Given the description of an element on the screen output the (x, y) to click on. 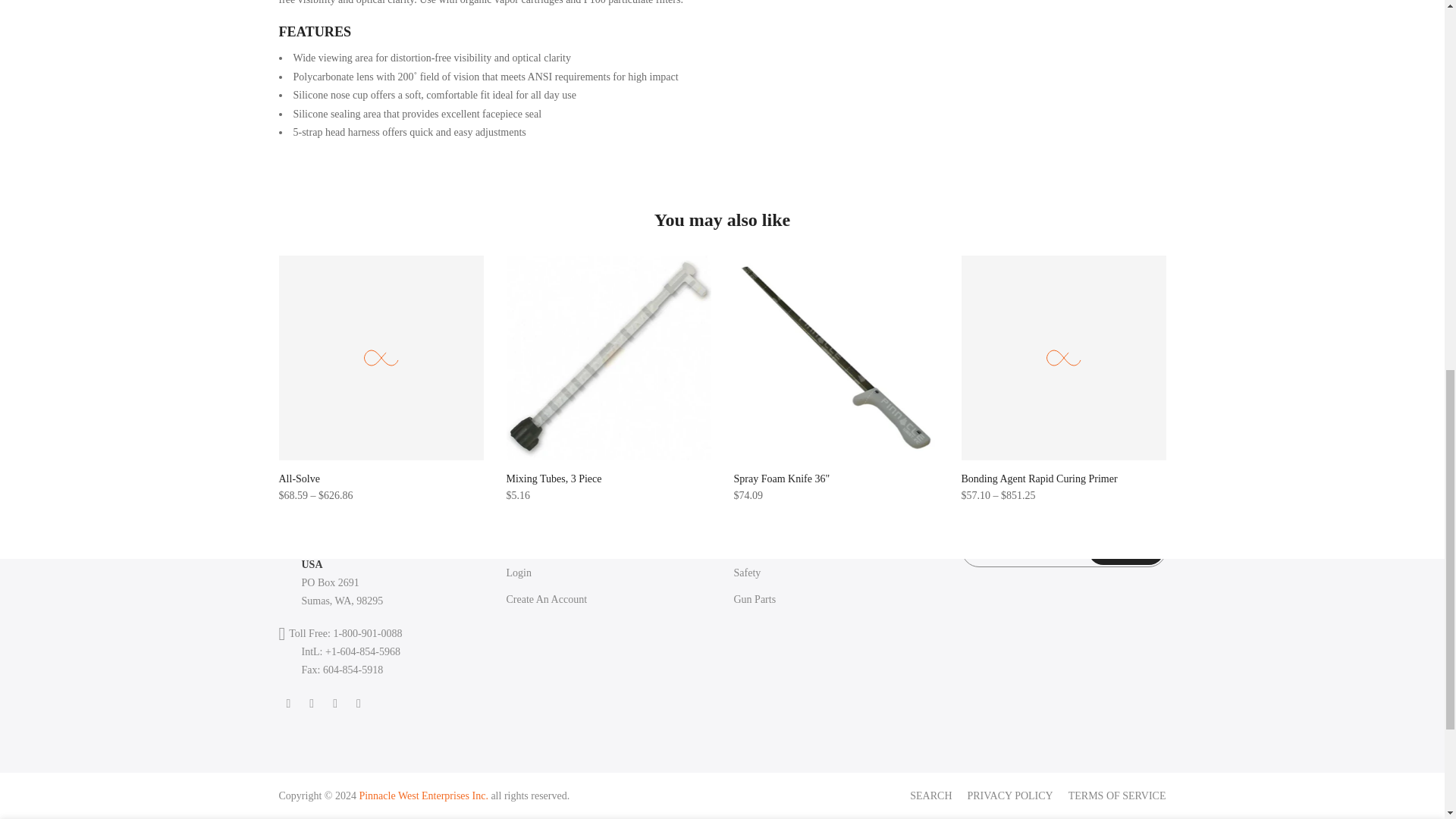
1 (1001, 35)
